Given the description of an element on the screen output the (x, y) to click on. 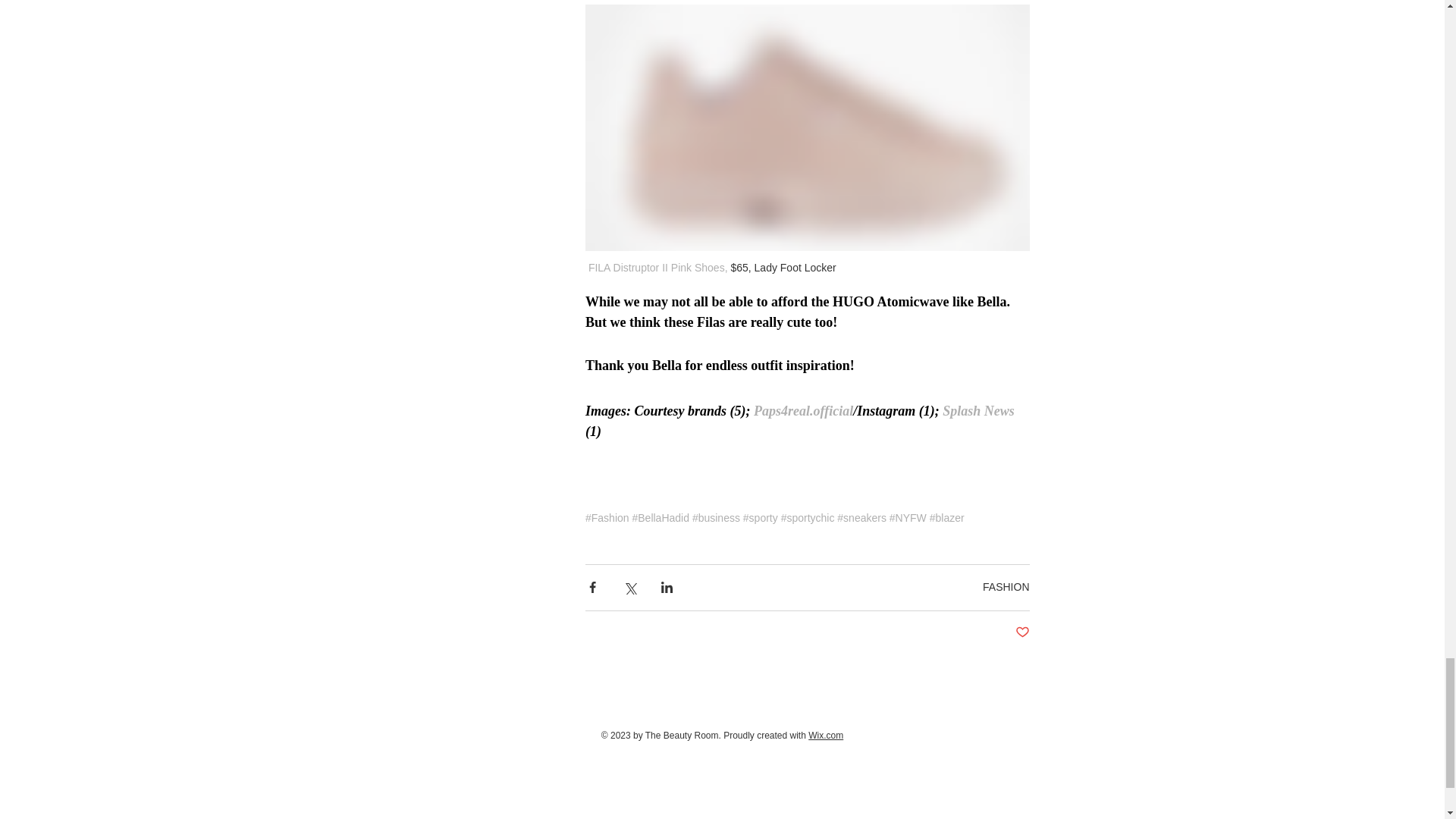
Wix.com (825, 735)
 Splash News (976, 410)
 FILA Distruptor II Pink Shoes, (656, 267)
FASHION (1005, 586)
Post not marked as liked (1021, 632)
Paps4real.official (803, 410)
